Given the description of an element on the screen output the (x, y) to click on. 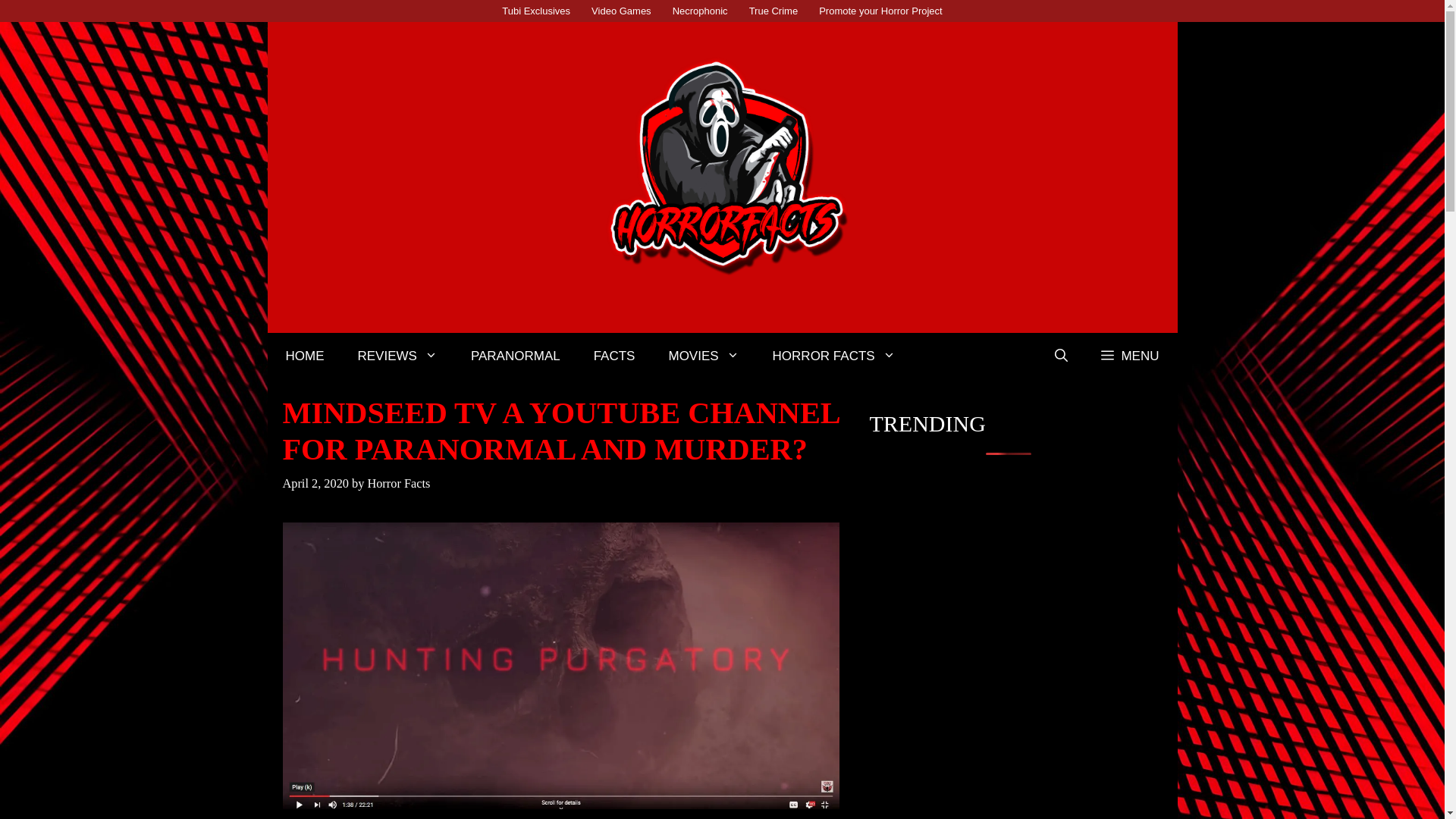
Necrophonic (700, 11)
PARANORMAL (515, 356)
View all posts by Horror Facts (397, 482)
HOME (303, 356)
Video Games (621, 11)
Promote your Horror Project (880, 11)
Tubi Exclusives (536, 11)
REVIEWS (397, 356)
True Crime (773, 11)
FACTS (614, 356)
